Given the description of an element on the screen output the (x, y) to click on. 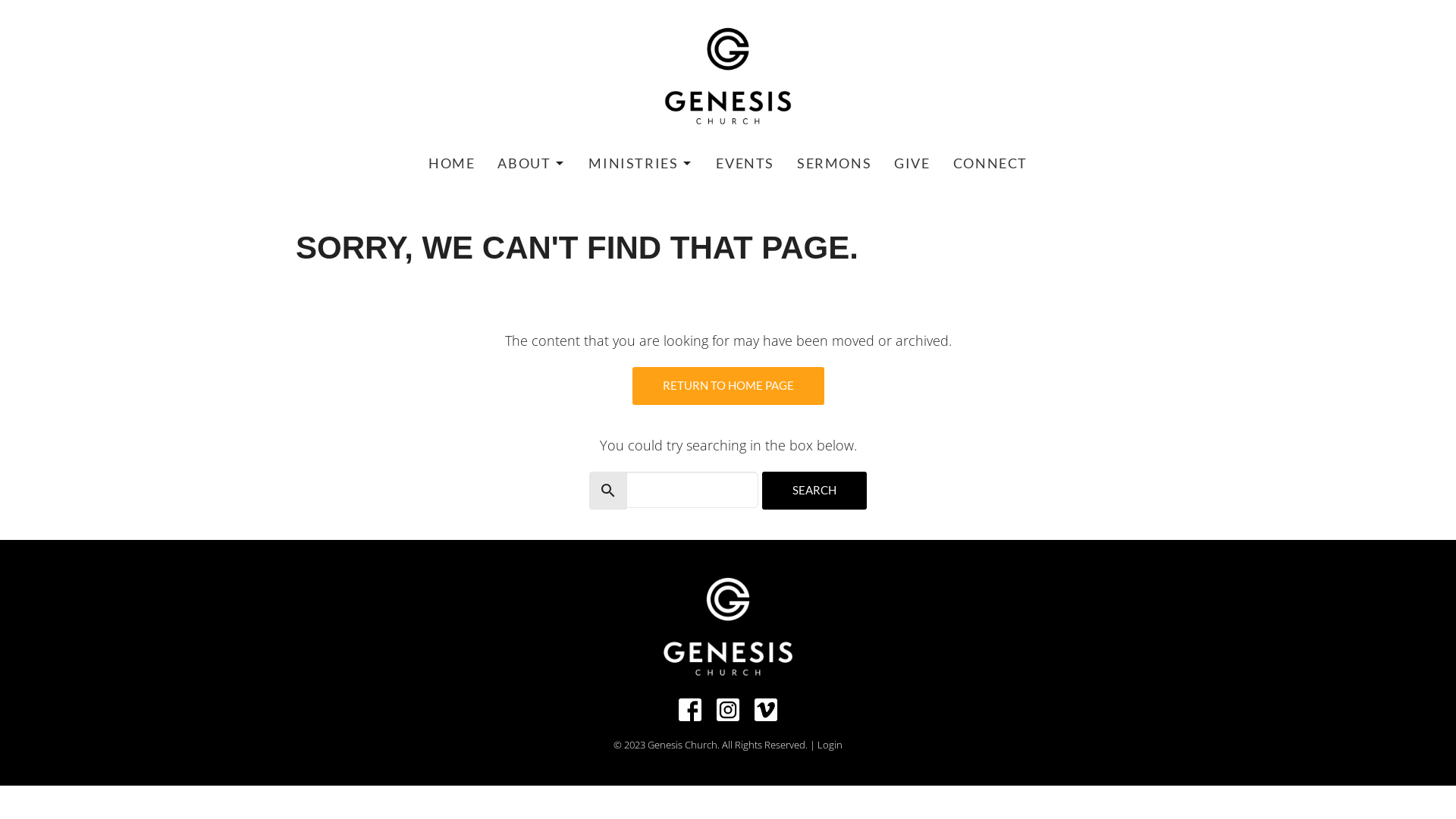
SEARCH Element type: text (814, 490)
SERMONS Element type: text (834, 163)
CONNECT Element type: text (990, 163)
RETURN TO HOME PAGE Element type: text (728, 385)
EVENTS Element type: text (744, 163)
GIVE Element type: text (911, 163)
MINISTRIES Element type: text (640, 163)
Login Element type: text (829, 744)
ABOUT Element type: text (531, 163)
HOME Element type: text (451, 163)
